Given the description of an element on the screen output the (x, y) to click on. 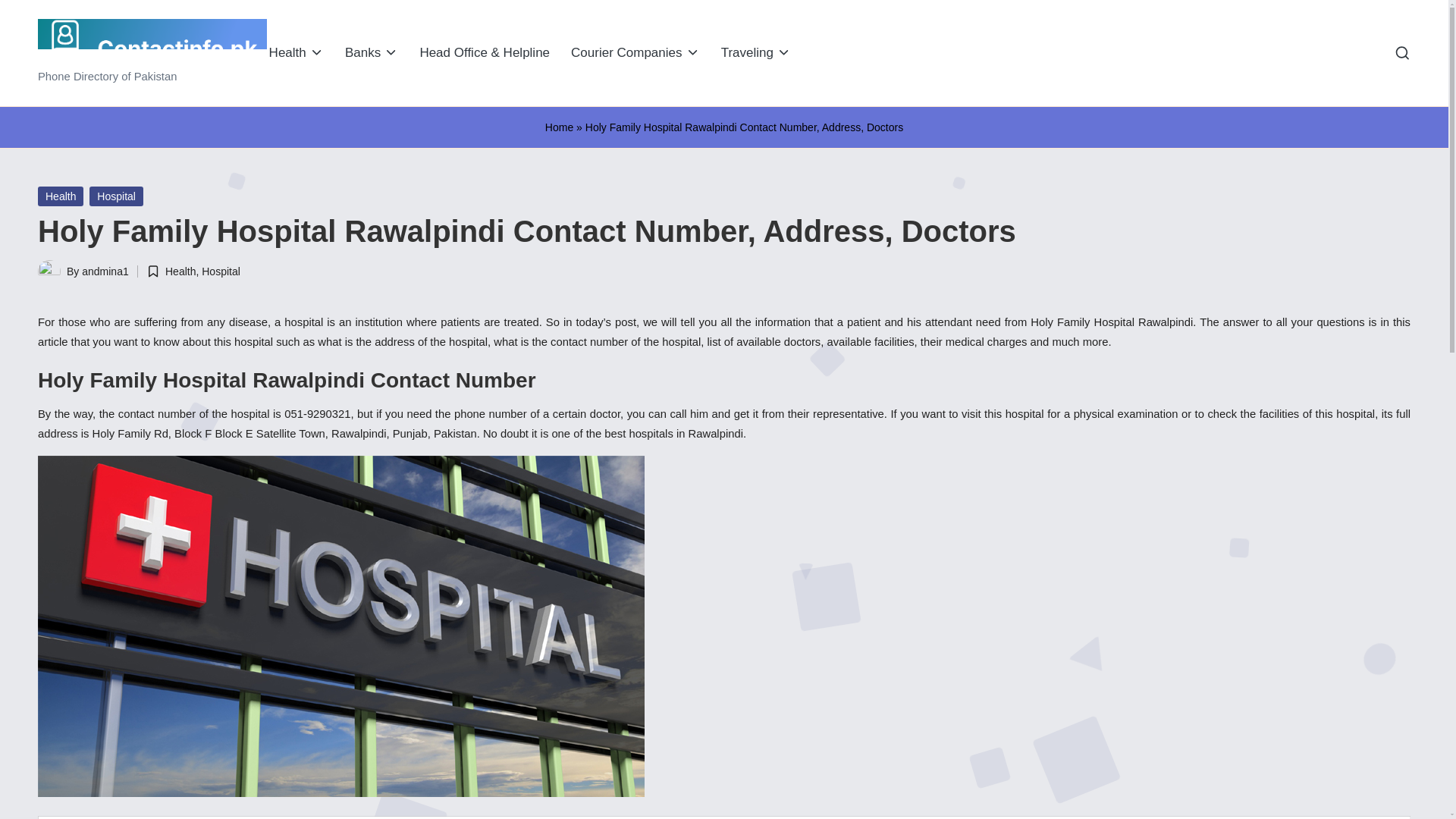
Courier Companies (635, 52)
Banks (371, 52)
Traveling (755, 52)
View all posts by andmina1 (105, 271)
Health (296, 52)
